Given the description of an element on the screen output the (x, y) to click on. 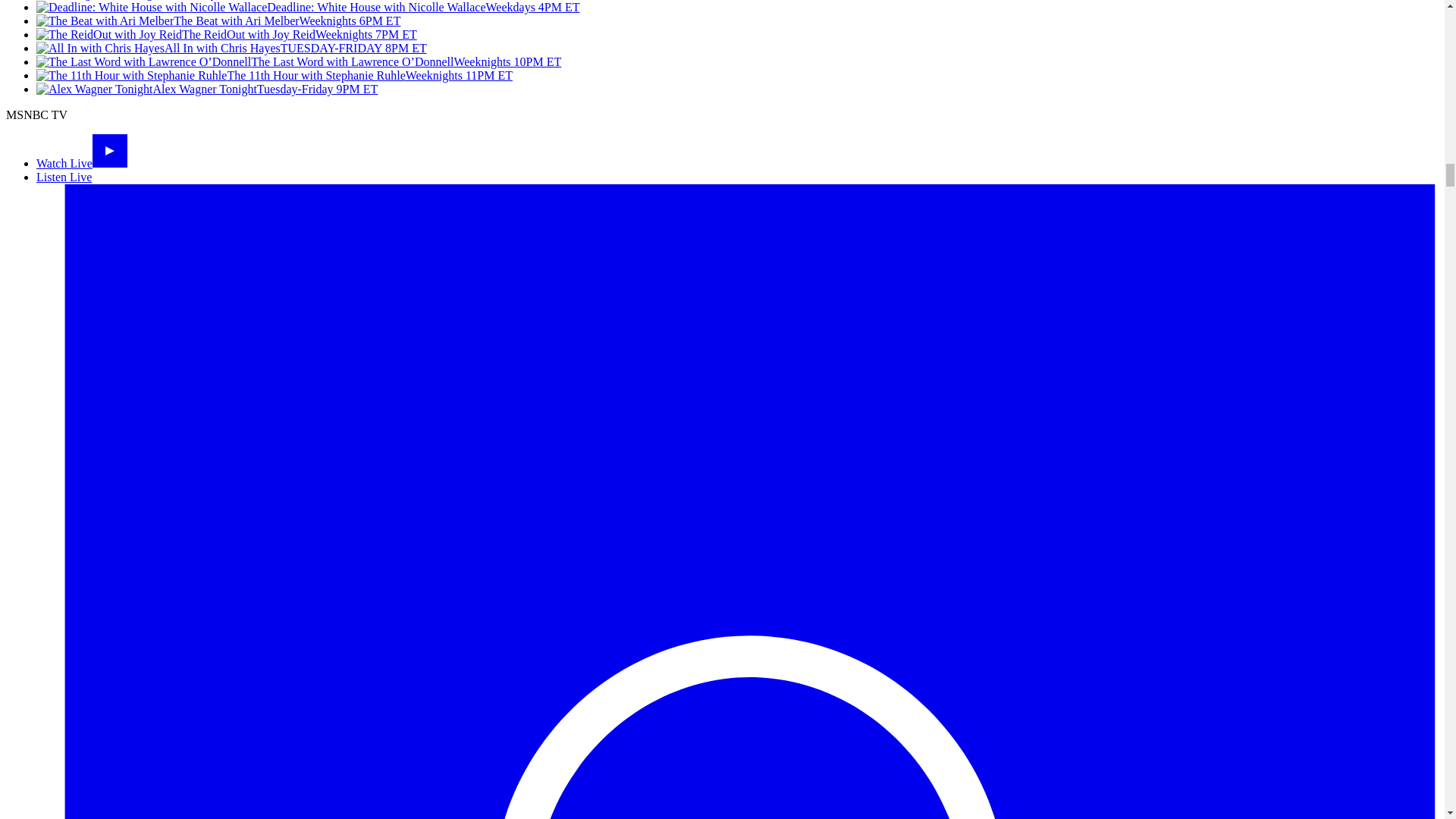
Alex Wagner TonightTuesday-Friday 9PM ET (206, 88)
Watch Live (82, 163)
The ReidOut with Joy ReidWeeknights 7PM ET (226, 33)
All In with Chris HayesTUESDAY-FRIDAY 8PM ET (231, 47)
The 11th Hour with Stephanie RuhleWeeknights 11PM ET (274, 74)
Deadline: White House with Nicolle WallaceWeekdays 4PM ET (307, 6)
The Beat with Ari MelberWeeknights 6PM ET (218, 20)
